Given the description of an element on the screen output the (x, y) to click on. 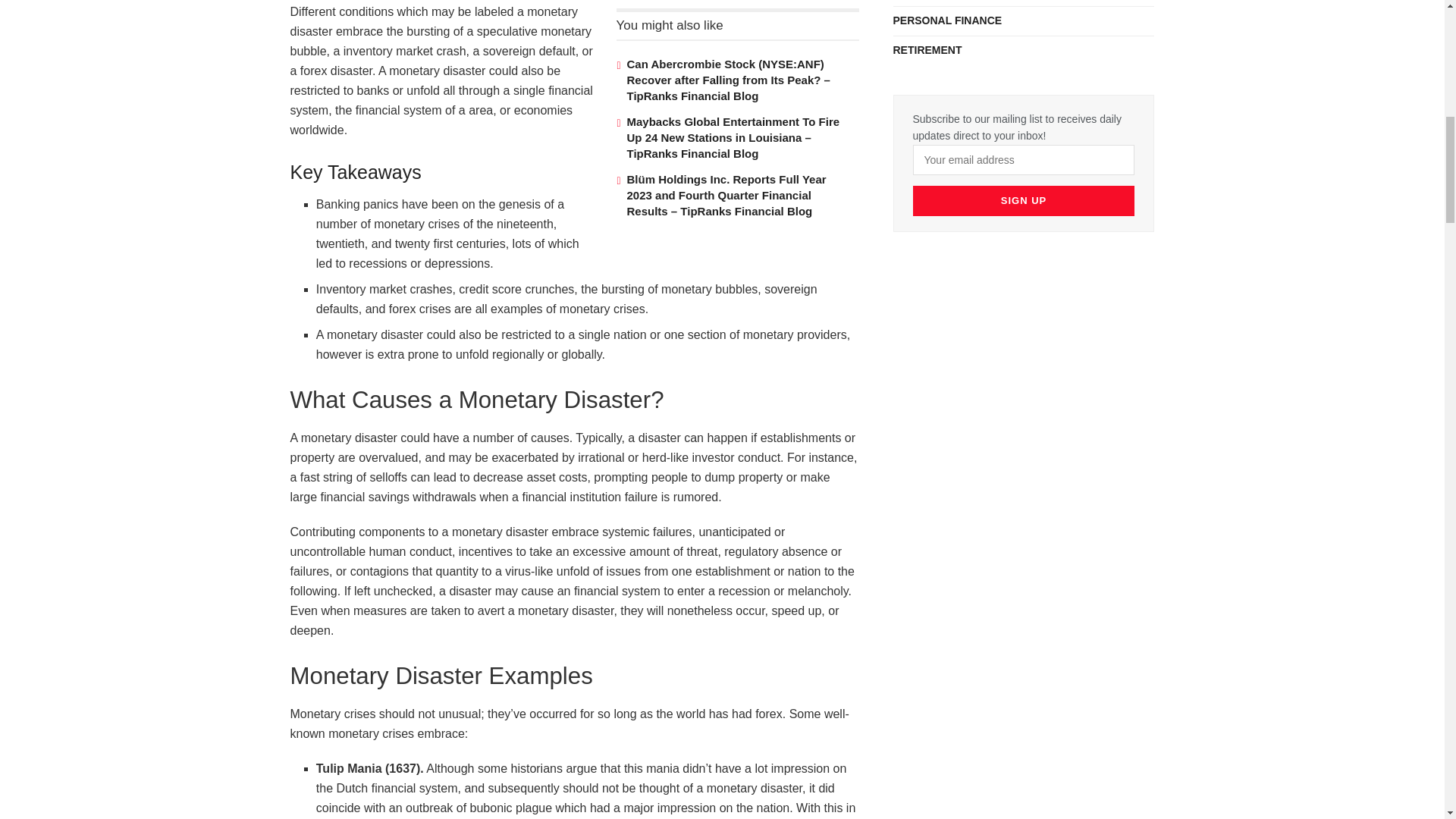
Sign up (1023, 200)
